Given the description of an element on the screen output the (x, y) to click on. 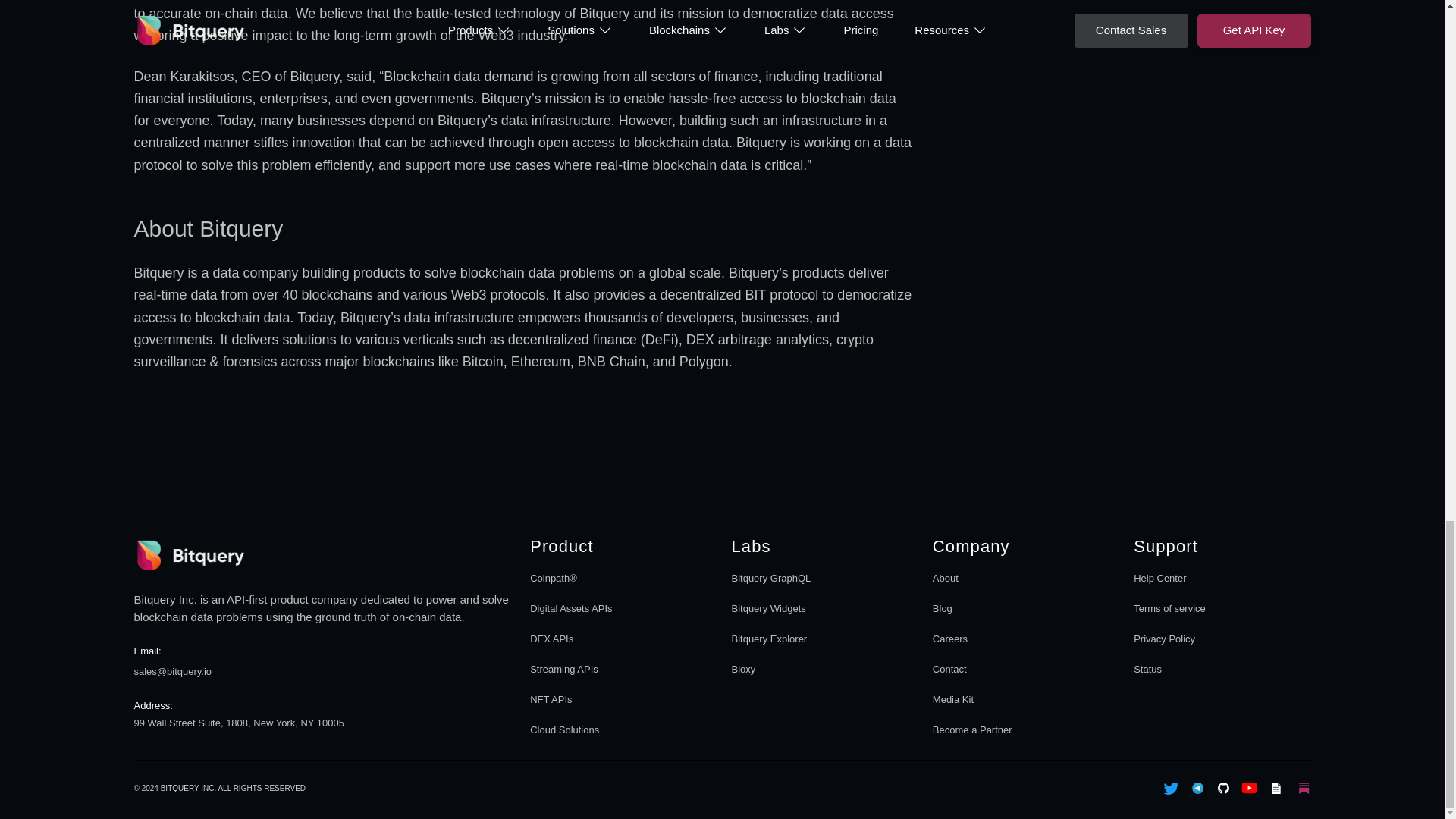
Terms of service (1021, 653)
Contact (1169, 608)
NFT APIs (818, 623)
Telegram (1222, 623)
Github (949, 668)
Bitquery GraphQL (550, 699)
Bitquery Explorer (1198, 788)
